Given the description of an element on the screen output the (x, y) to click on. 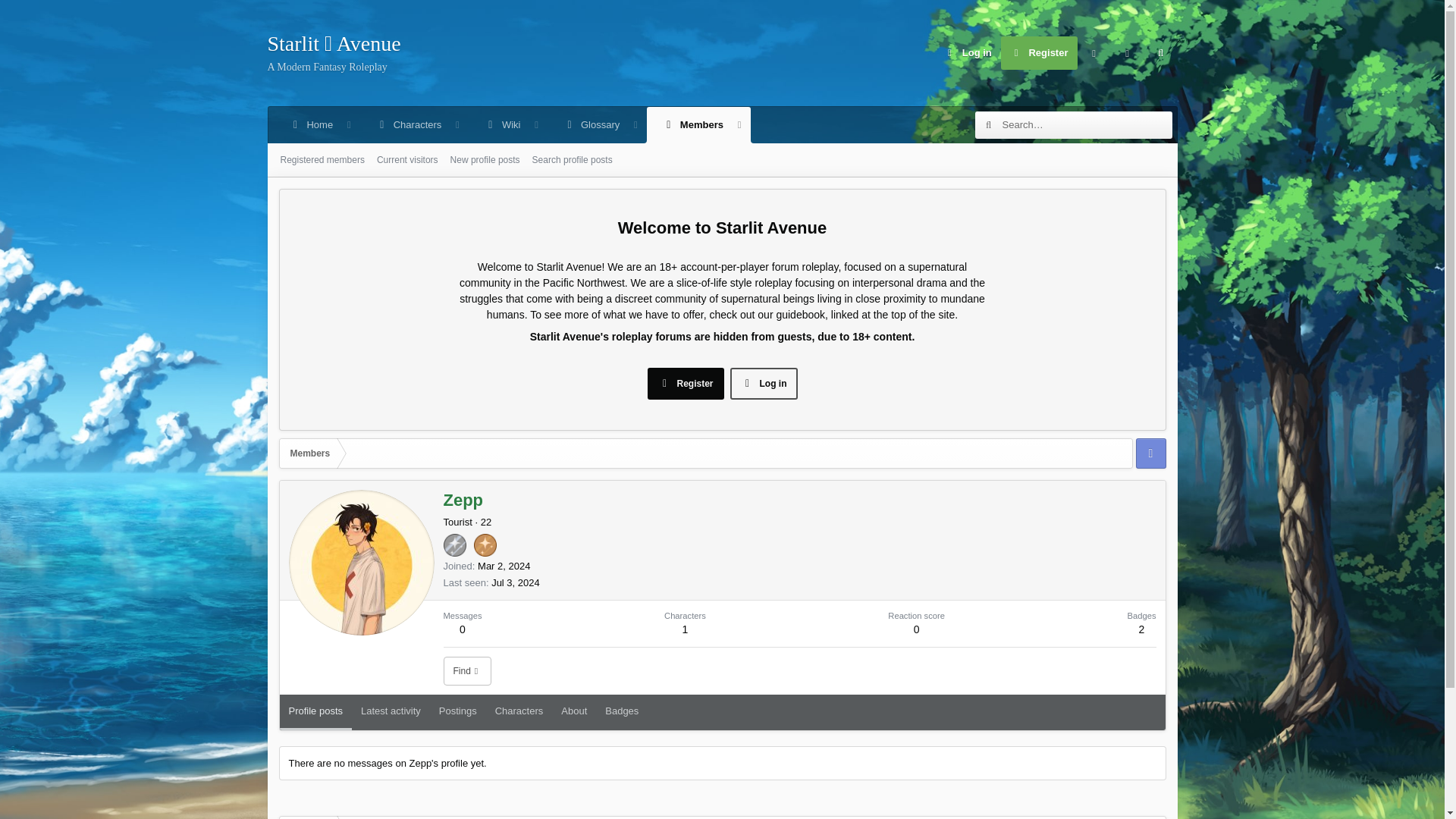
Wiki (333, 53)
Mar 2, 2024 at 12:28 PM (501, 125)
Members (503, 565)
Glossary (692, 125)
Log in (590, 125)
Register (512, 125)
Characters (967, 52)
Jul 3, 2024 at 4:16 AM (1039, 52)
Home (512, 142)
